Given the description of an element on the screen output the (x, y) to click on. 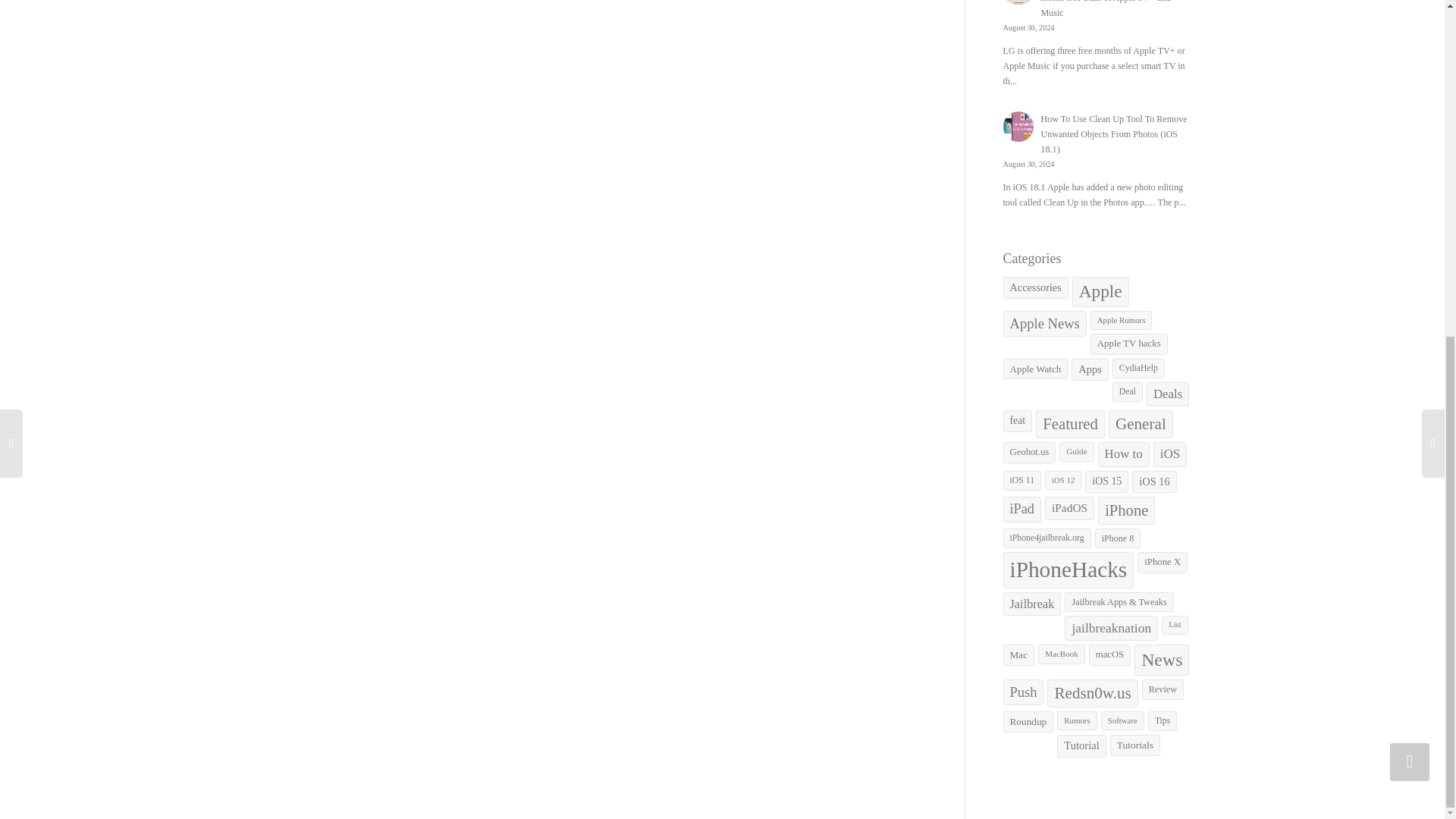
Apple News (1044, 323)
Apple TV hacks (1128, 343)
Apple Rumors (1121, 320)
Apple (1100, 291)
Accessories (1035, 287)
